Given the description of an element on the screen output the (x, y) to click on. 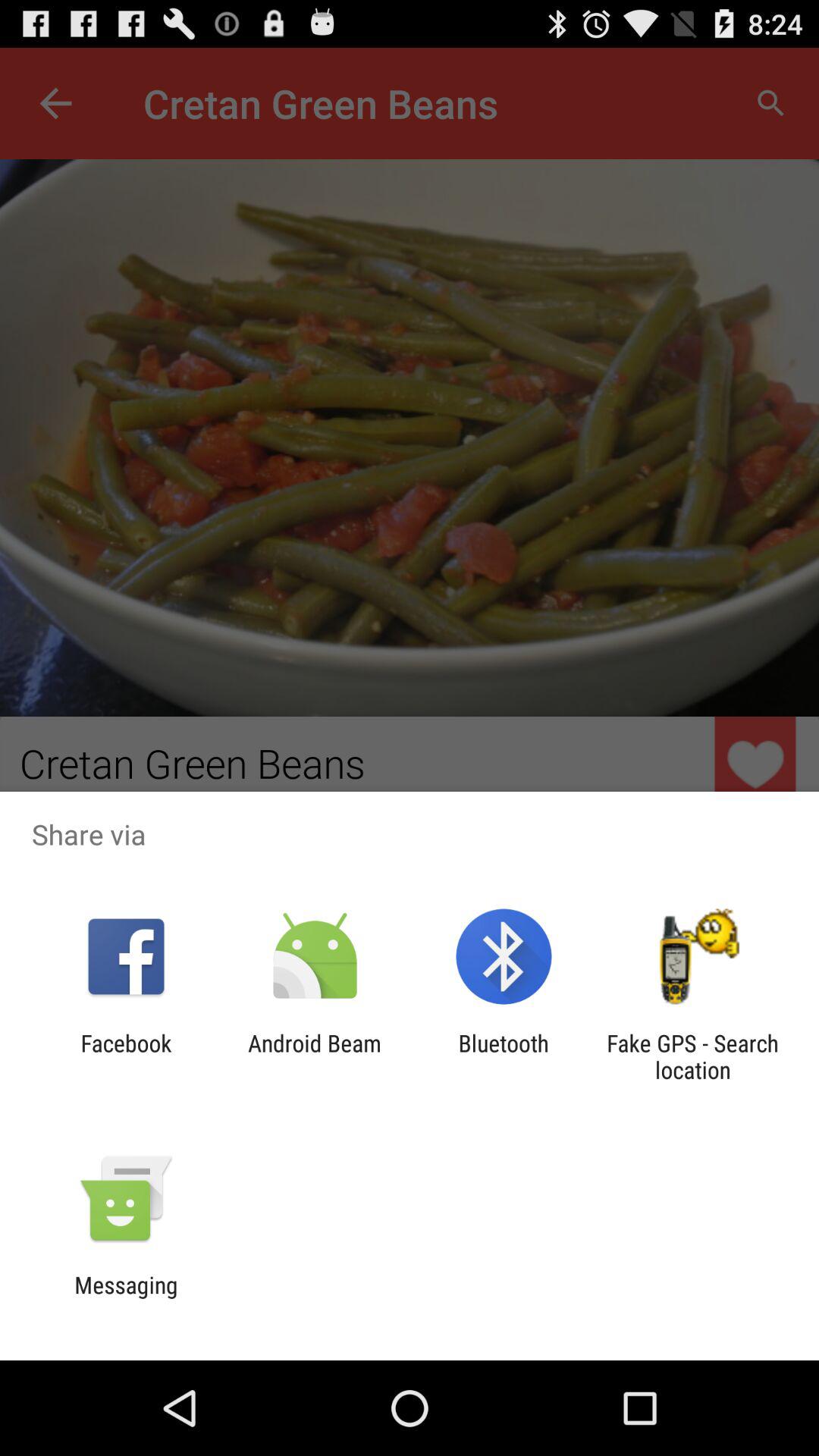
jump until the messaging (126, 1298)
